Given the description of an element on the screen output the (x, y) to click on. 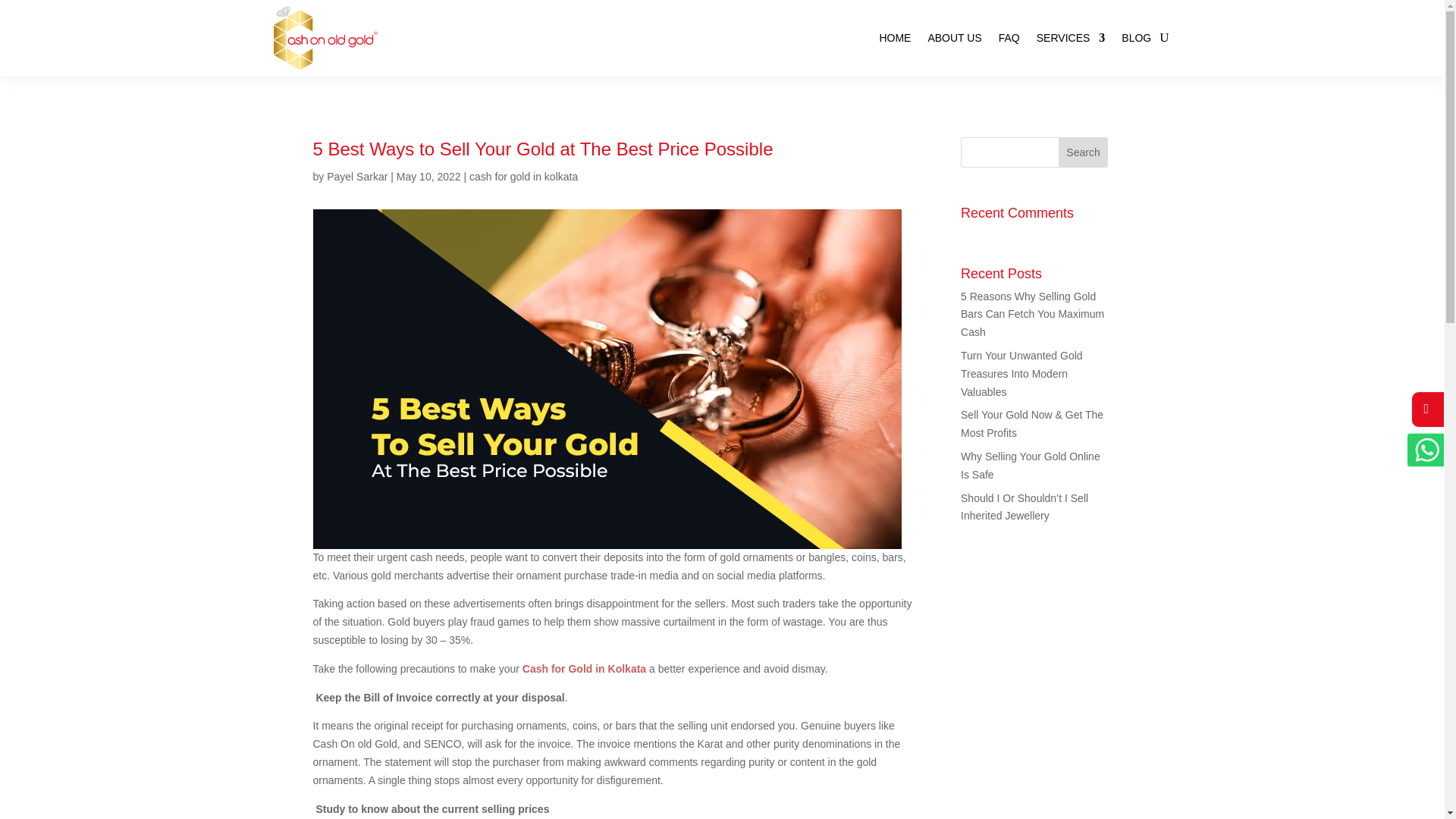
Posts by Payel Sarkar (356, 176)
Why Selling Your Gold Online Is Safe (1030, 465)
5 Reasons Why Selling Gold Bars Can Fetch You Maximum Cash (1031, 314)
Payel Sarkar (356, 176)
5-Best-Ways-To-Sell-Your-Gold-At-The-Best-Price-Possible (372, 215)
Cash for Gold in Kolkata (584, 340)
Search (1083, 152)
cash for gold in kolkata (523, 176)
SERVICES (1070, 38)
Cash for Gold in Kolkata (741, 509)
Search (1083, 152)
Turn Your Unwanted Gold Treasures Into Modern Valuables (1021, 373)
